Given the description of an element on the screen output the (x, y) to click on. 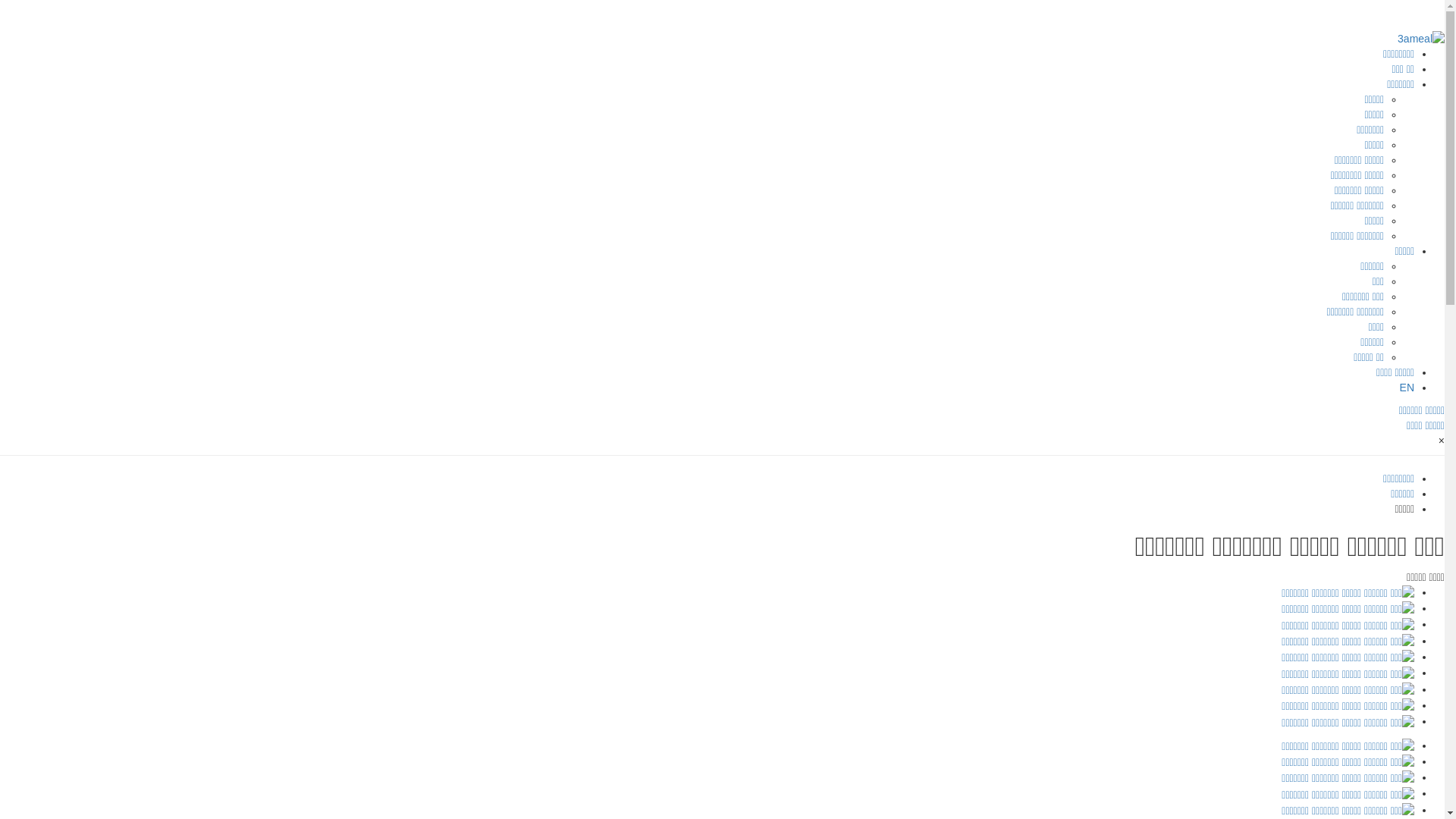
EN Element type: text (1406, 387)
